Given the description of an element on the screen output the (x, y) to click on. 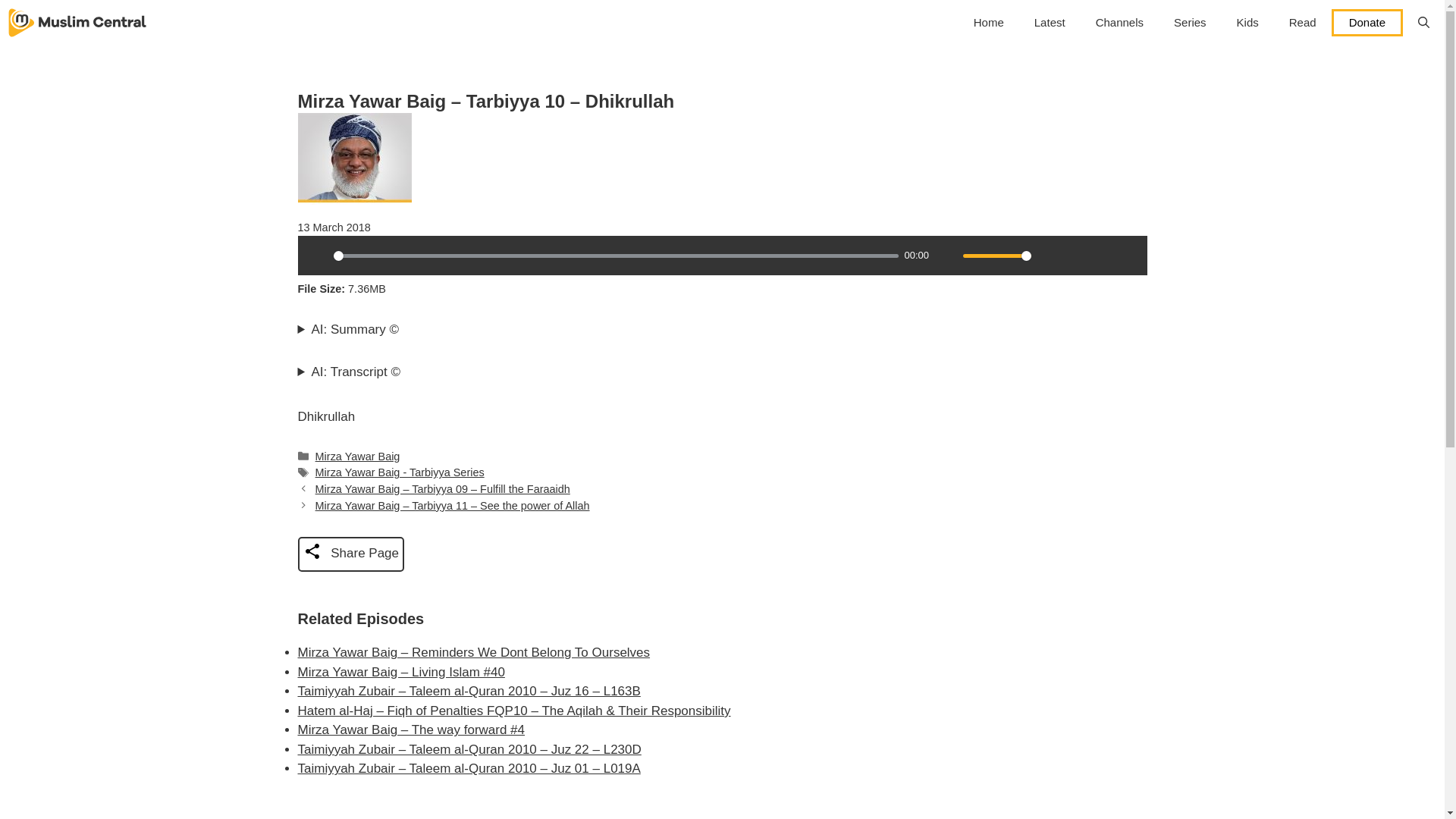
Mirza Yawar Baig (357, 456)
Settings (1048, 255)
Kids (1247, 22)
Mirza Yawar Baig - Tarbiyya Series (399, 472)
Latest (1049, 22)
1 (996, 255)
Download (1074, 255)
Rewind 10s (1101, 255)
Home (988, 22)
0 (615, 255)
Series (1189, 22)
Donate (1367, 22)
Read (1303, 22)
Mute (946, 255)
Channels (1119, 22)
